Given the description of an element on the screen output the (x, y) to click on. 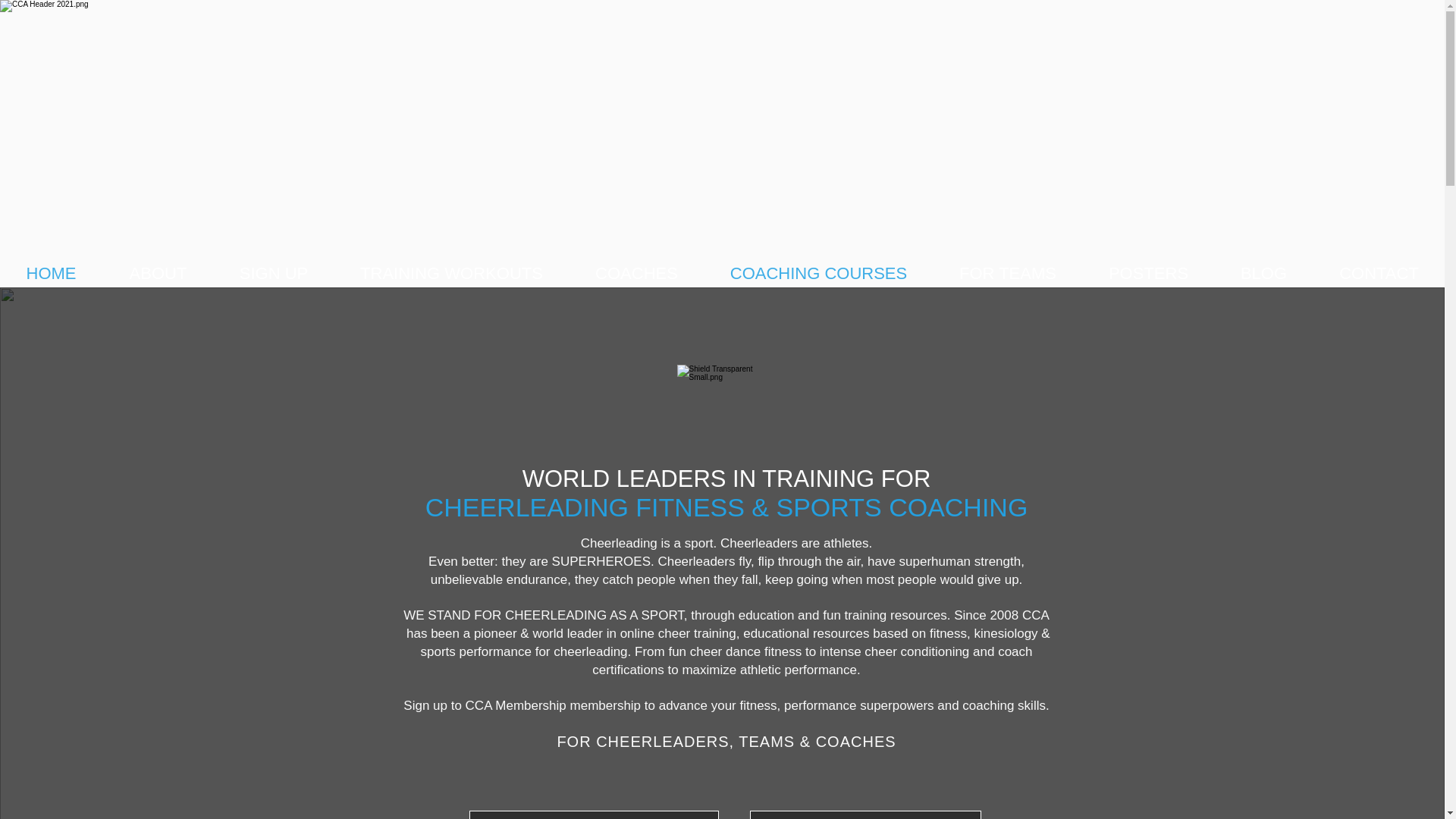
HOME (50, 273)
SIGN UP (592, 814)
COACHING COURSES (818, 273)
ABOUT (157, 273)
POSTERS (1148, 273)
TRAINING WORKOUTS (451, 273)
SIGN UP (273, 273)
BLOG (1263, 273)
COACHES (636, 273)
MEMBER LOGIN (864, 814)
